Given the description of an element on the screen output the (x, y) to click on. 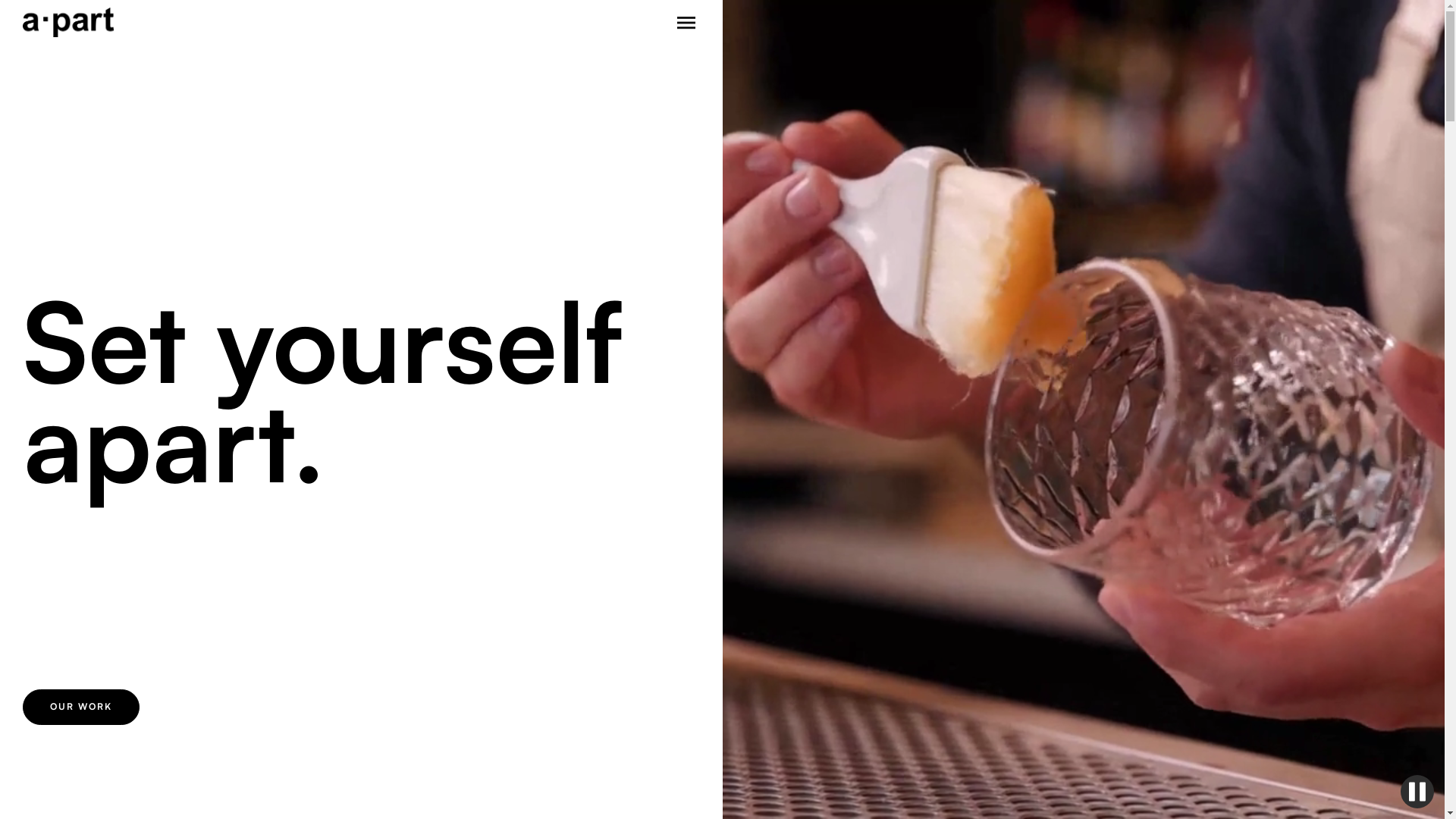
OUR WORK Element type: text (80, 706)
